Given the description of an element on the screen output the (x, y) to click on. 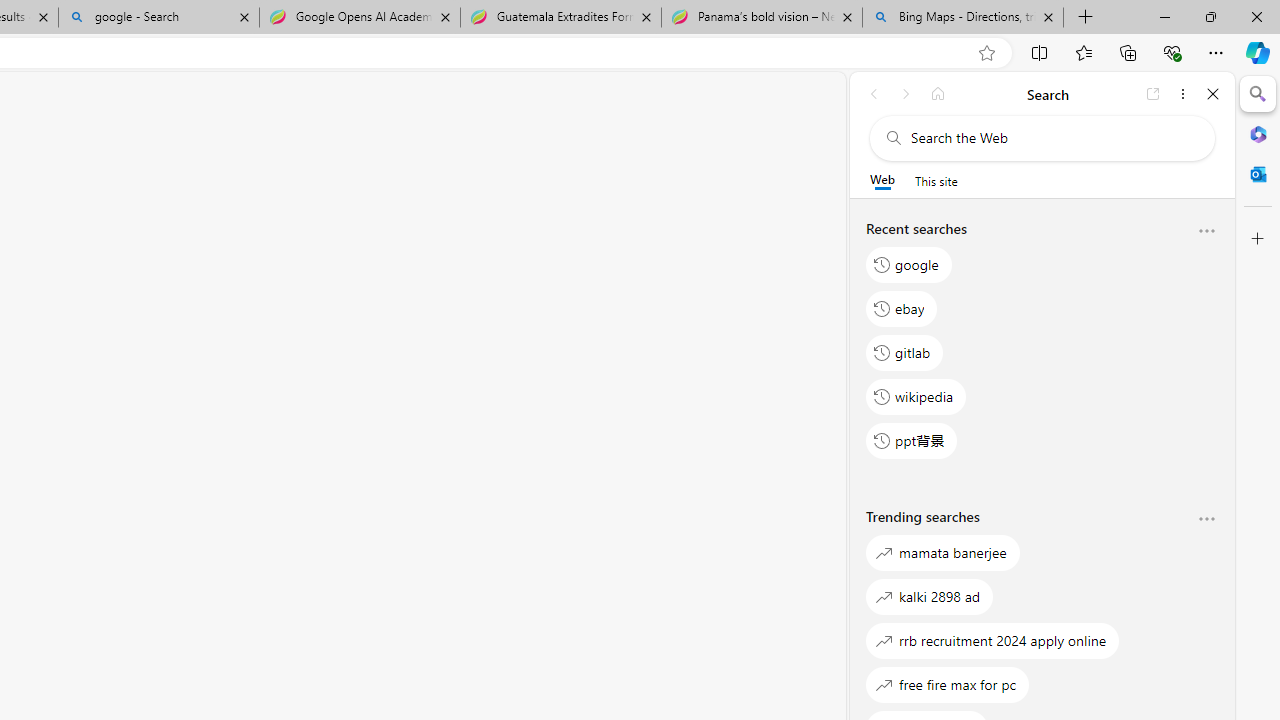
kalki 2898 ad (930, 596)
ebay (902, 308)
Google Opens AI Academy for Startups - Nearshore Americas (359, 17)
google (909, 264)
wikipedia (916, 396)
gitlab (905, 352)
